Given the description of an element on the screen output the (x, y) to click on. 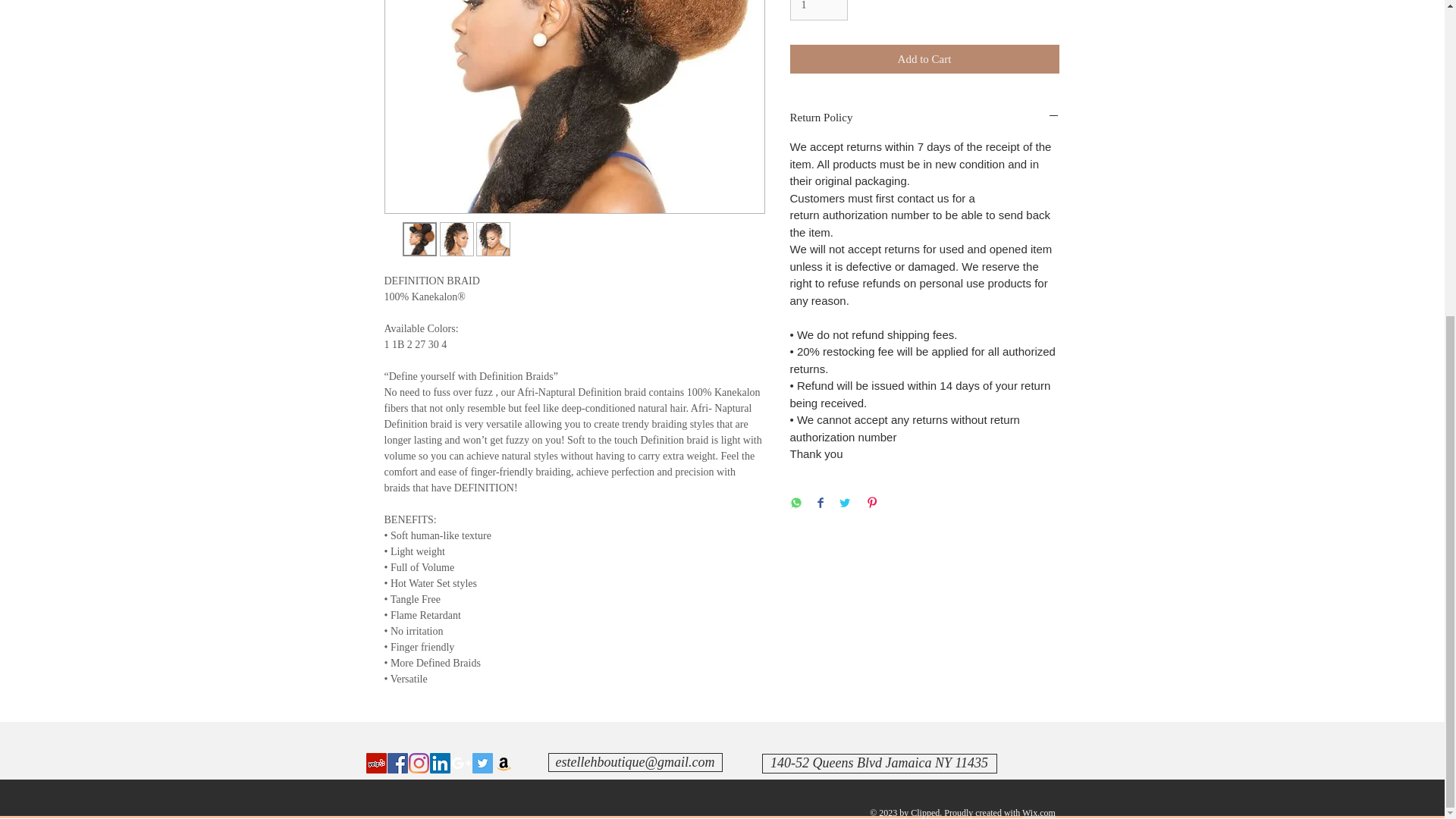
Wix.com (1038, 812)
140-52 Queens Blvd Jamaica NY 11435 (878, 763)
Add to Cart (924, 59)
1 (818, 10)
Return Policy (924, 117)
